Given the description of an element on the screen output the (x, y) to click on. 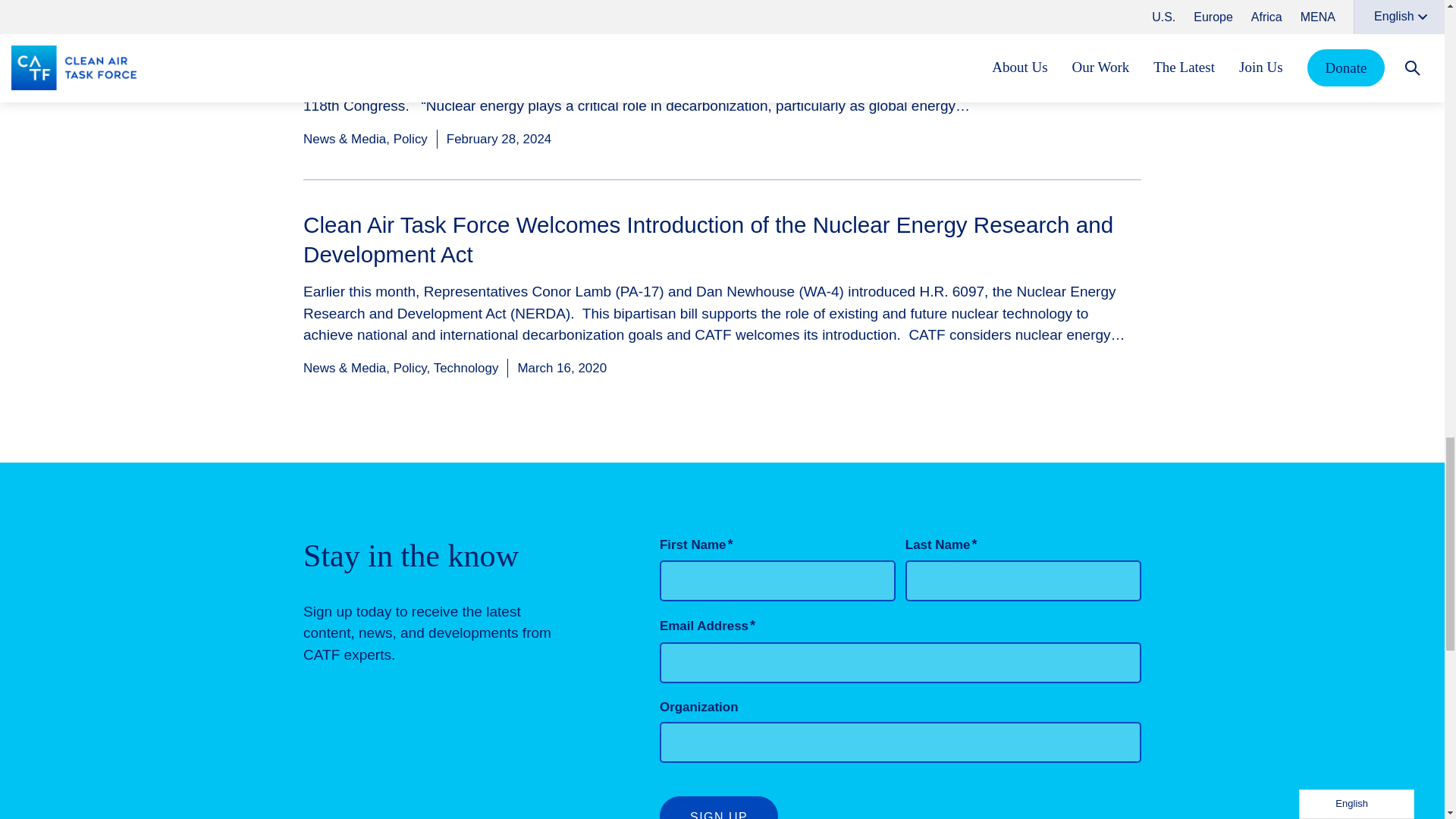
Sign Up (718, 807)
